Given the description of an element on the screen output the (x, y) to click on. 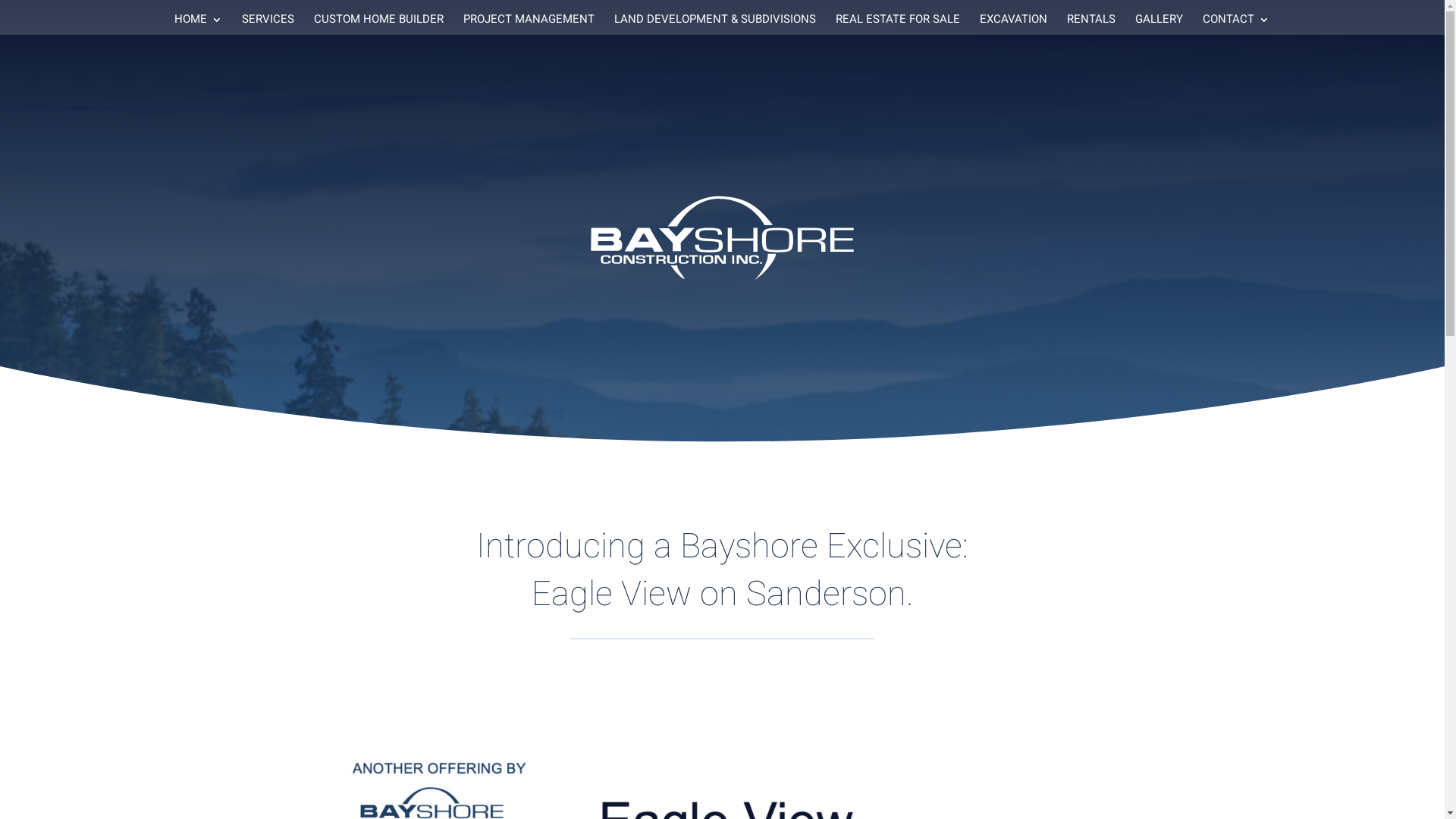
RENTALS Element type: text (1090, 23)
EXCAVATION Element type: text (1013, 23)
GALLERY Element type: text (1158, 23)
CUSTOM HOME BUILDER Element type: text (378, 23)
HOME Element type: text (198, 23)
CONTACT Element type: text (1235, 23)
baylogo Element type: hover (722, 237)
REAL ESTATE FOR SALE Element type: text (897, 23)
LAND DEVELOPMENT & SUBDIVISIONS Element type: text (714, 23)
PROJECT MANAGEMENT Element type: text (527, 23)
SERVICES Element type: text (267, 23)
